Given the description of an element on the screen output the (x, y) to click on. 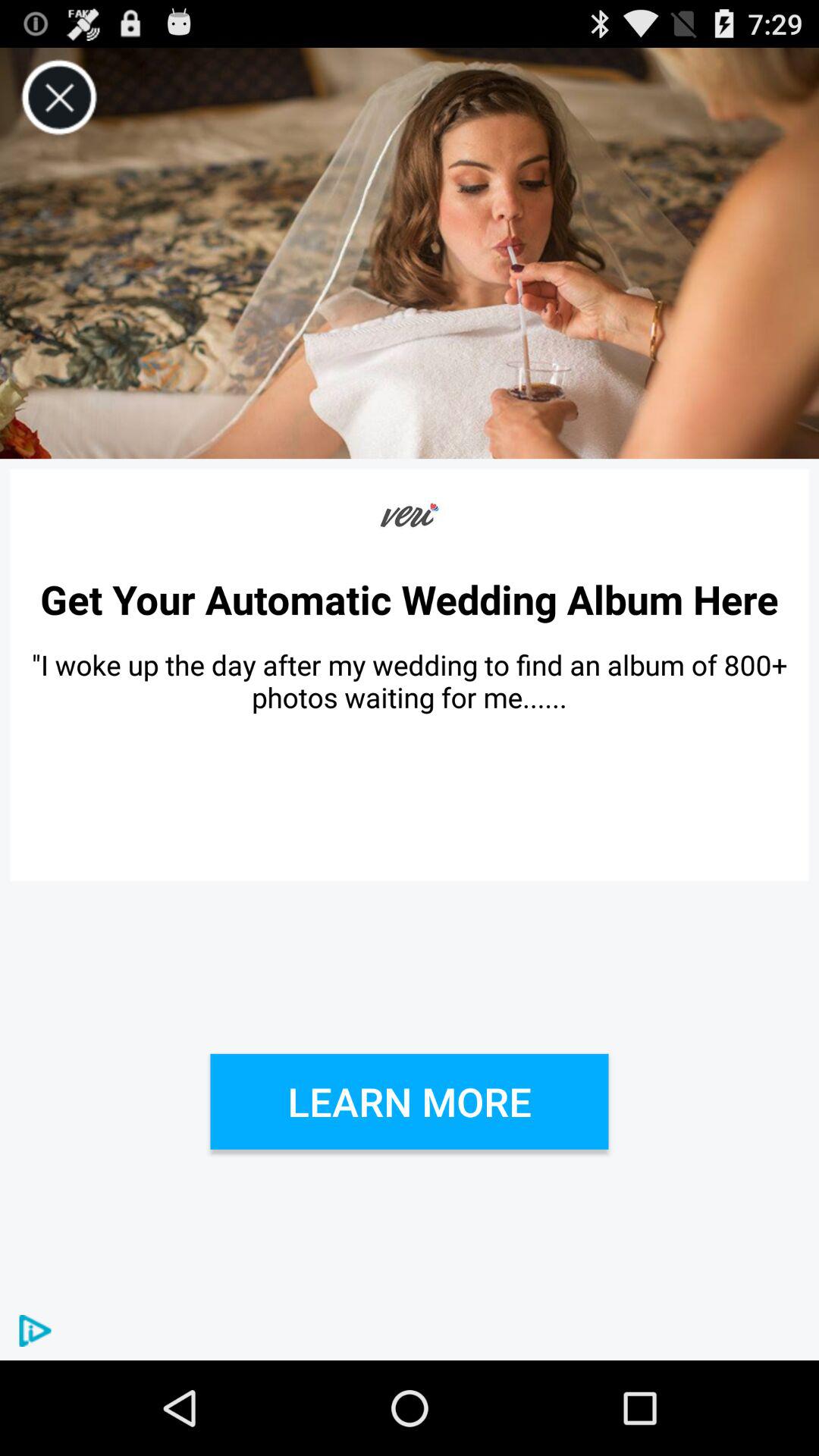
open the icon at the top (409, 252)
